Given the description of an element on the screen output the (x, y) to click on. 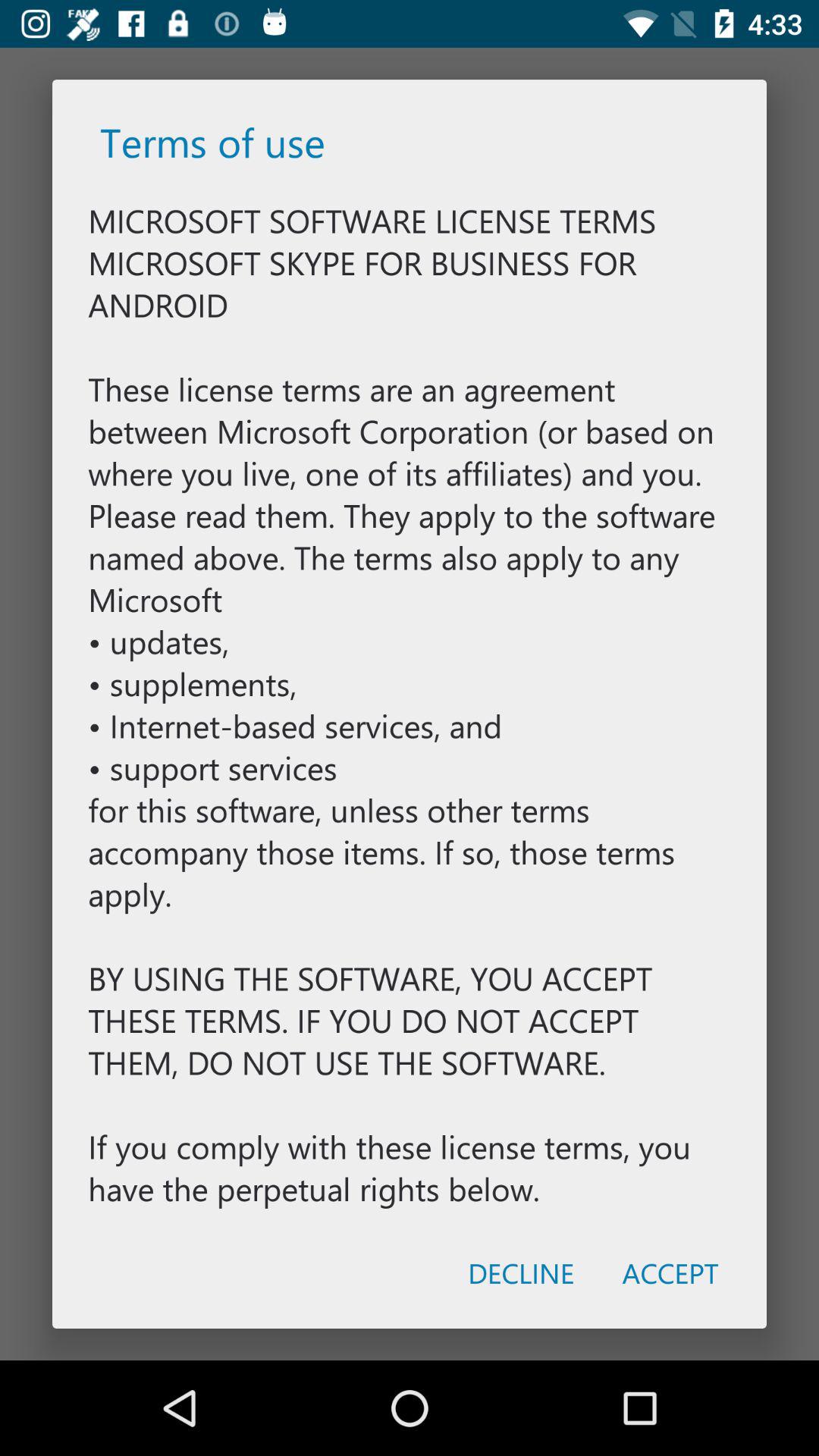
scroll to accept icon (670, 1272)
